Given the description of an element on the screen output the (x, y) to click on. 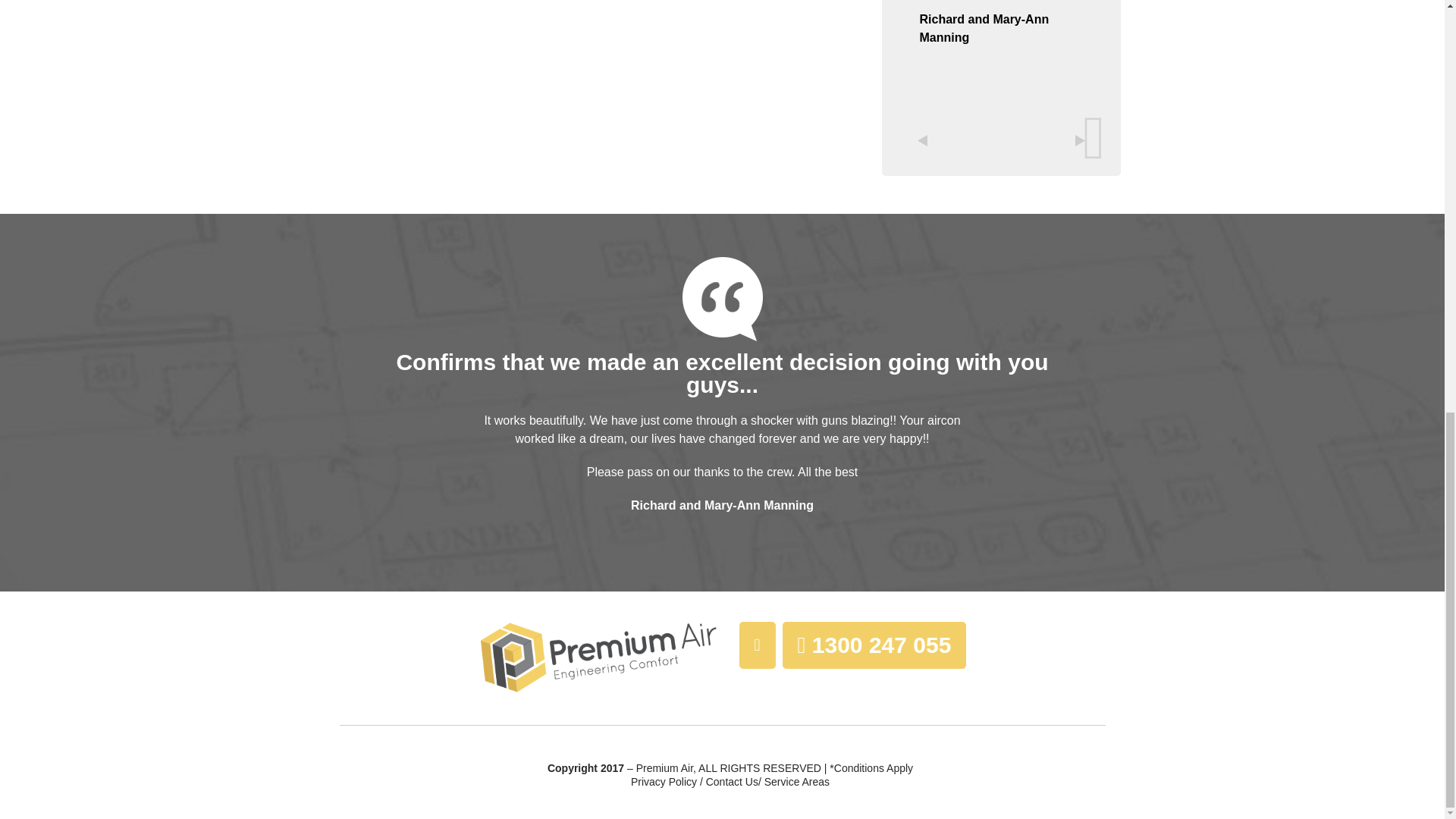
Prev (923, 140)
Privacy Policy (663, 781)
1300 247 055 (877, 689)
Privacy Policy (663, 781)
Contact Us (732, 781)
Next (1077, 140)
Contact Us (732, 781)
Service Areas (796, 781)
Contact Us (796, 781)
